Given the description of an element on the screen output the (x, y) to click on. 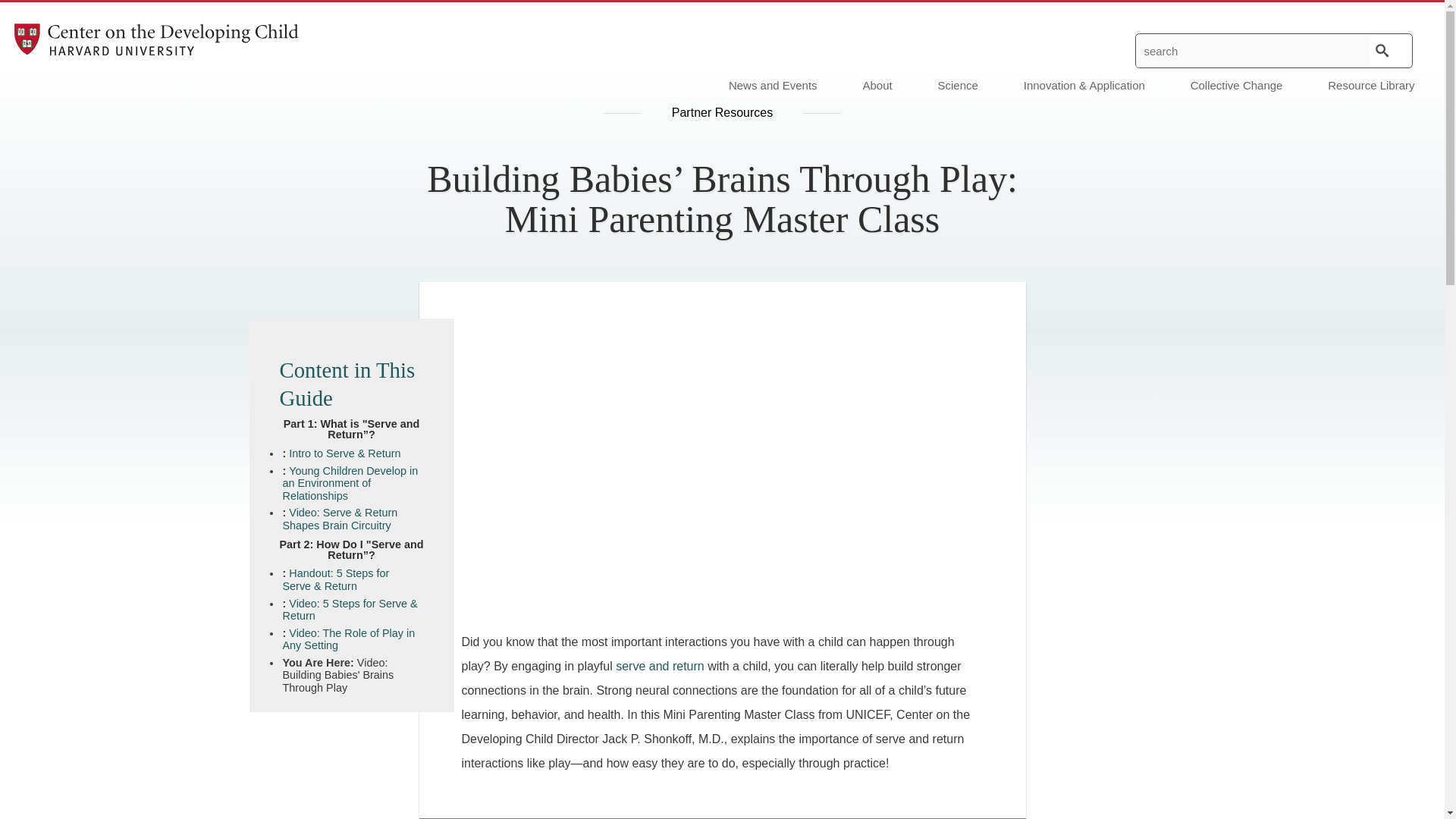
News and Events (773, 84)
Science (957, 84)
About (877, 84)
Search (1382, 50)
Search (1382, 50)
Resource Library (1375, 84)
